Given the description of an element on the screen output the (x, y) to click on. 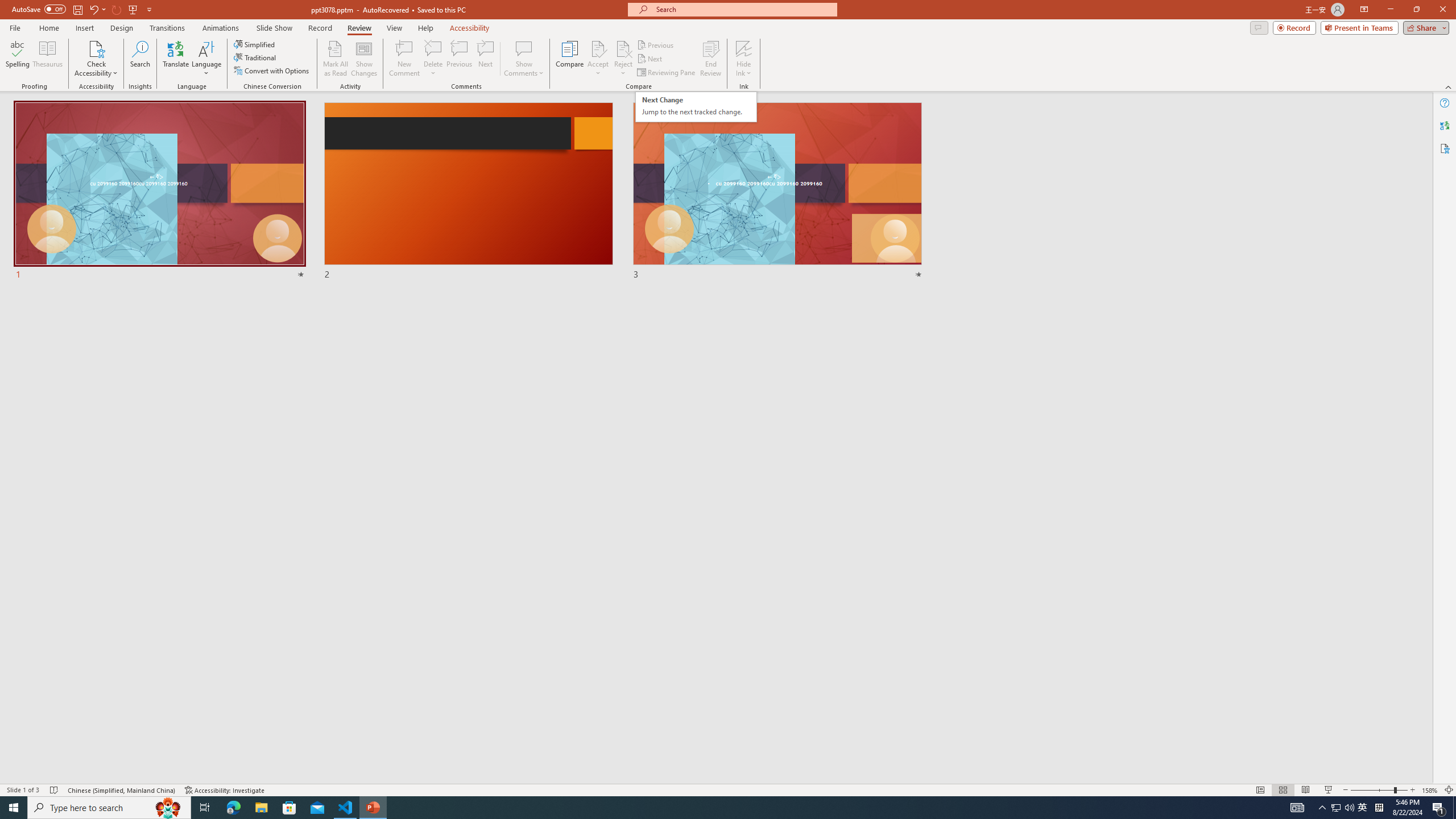
End Review (710, 58)
Language (206, 58)
Simplified (254, 44)
Compare (569, 58)
Traditional (255, 56)
